Given the description of an element on the screen output the (x, y) to click on. 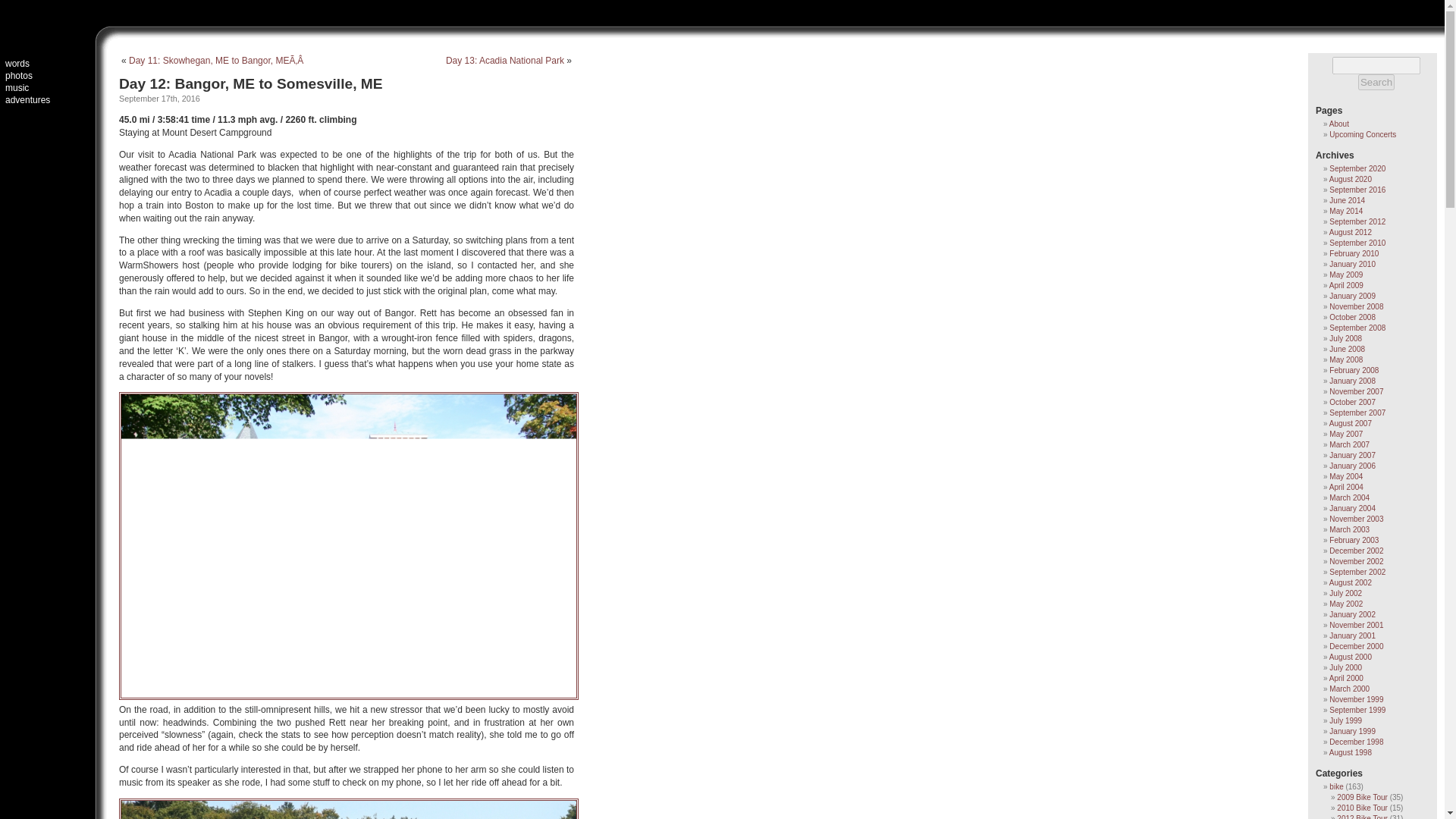
October 2007 (1352, 402)
Search (1376, 82)
January 2004 (1352, 508)
May 2008 (1345, 359)
July 2008 (1345, 338)
May 2009 (1345, 275)
September 2010 (1357, 243)
About (1339, 123)
November 2008 (1356, 306)
June 2008 (1347, 348)
